Given the description of an element on the screen output the (x, y) to click on. 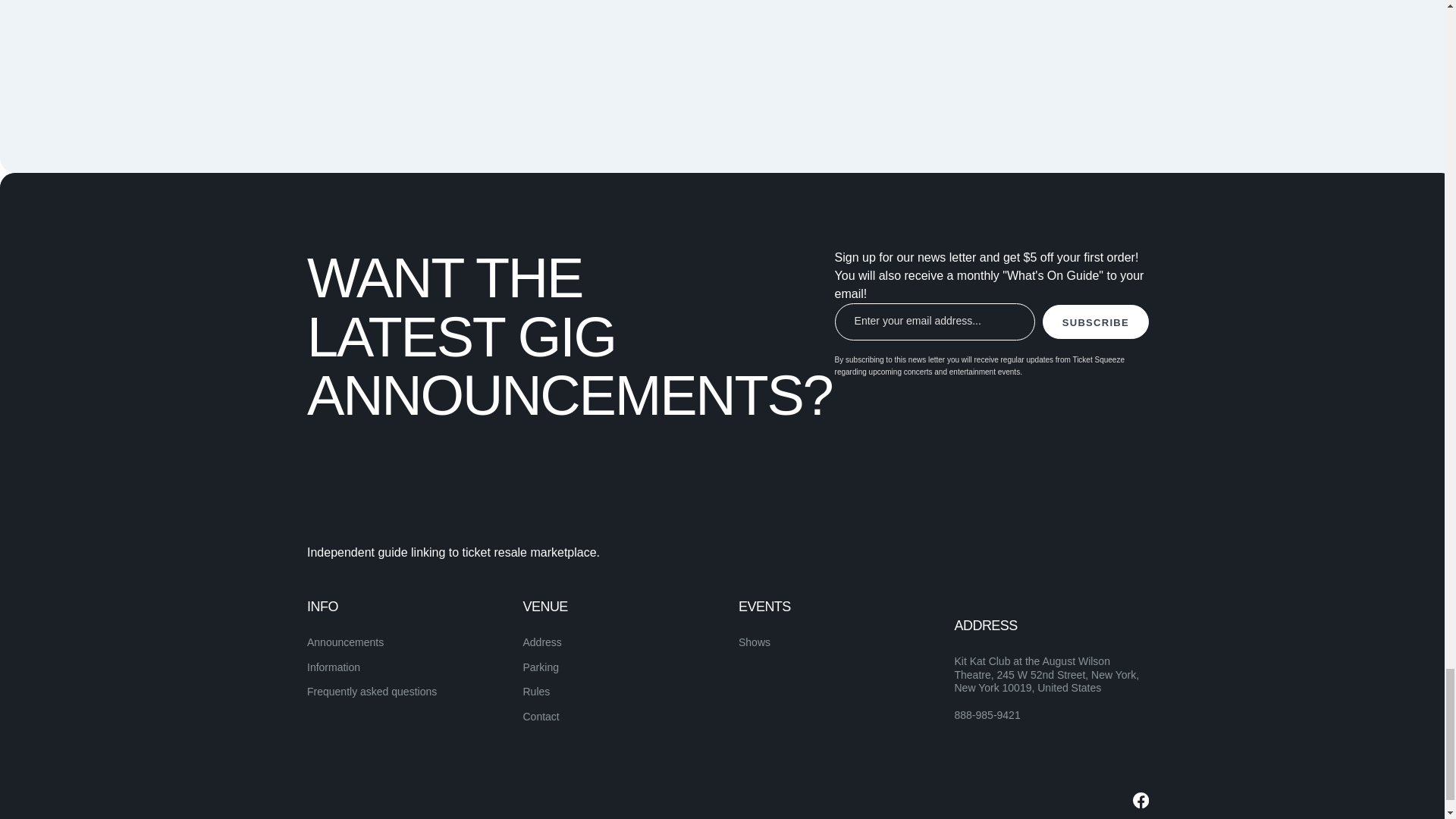
888-985-9421 (986, 715)
Parking (540, 666)
Frequently asked questions (371, 691)
Rules (536, 691)
SUBSCRIBE (1095, 321)
Shows (754, 642)
venue map (905, 40)
Announcements (345, 642)
Address (542, 642)
Contact (540, 716)
